Given the description of an element on the screen output the (x, y) to click on. 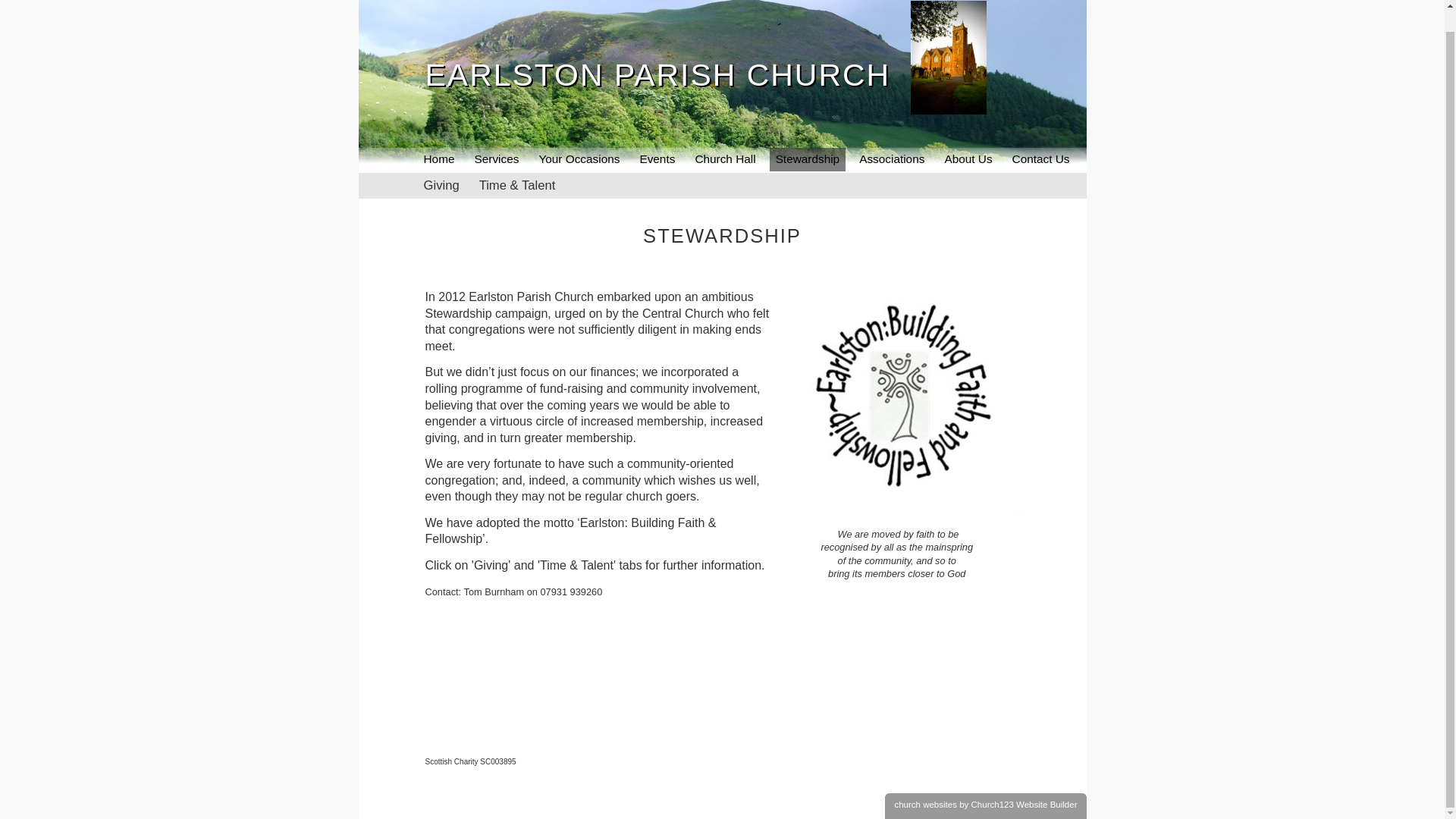
Giving (440, 185)
Home (438, 159)
Events (657, 159)
Your Occasions (579, 159)
Church Hall (724, 159)
Associations (891, 159)
Contact Us (1040, 159)
About Us (967, 159)
Services (496, 159)
